Given the description of an element on the screen output the (x, y) to click on. 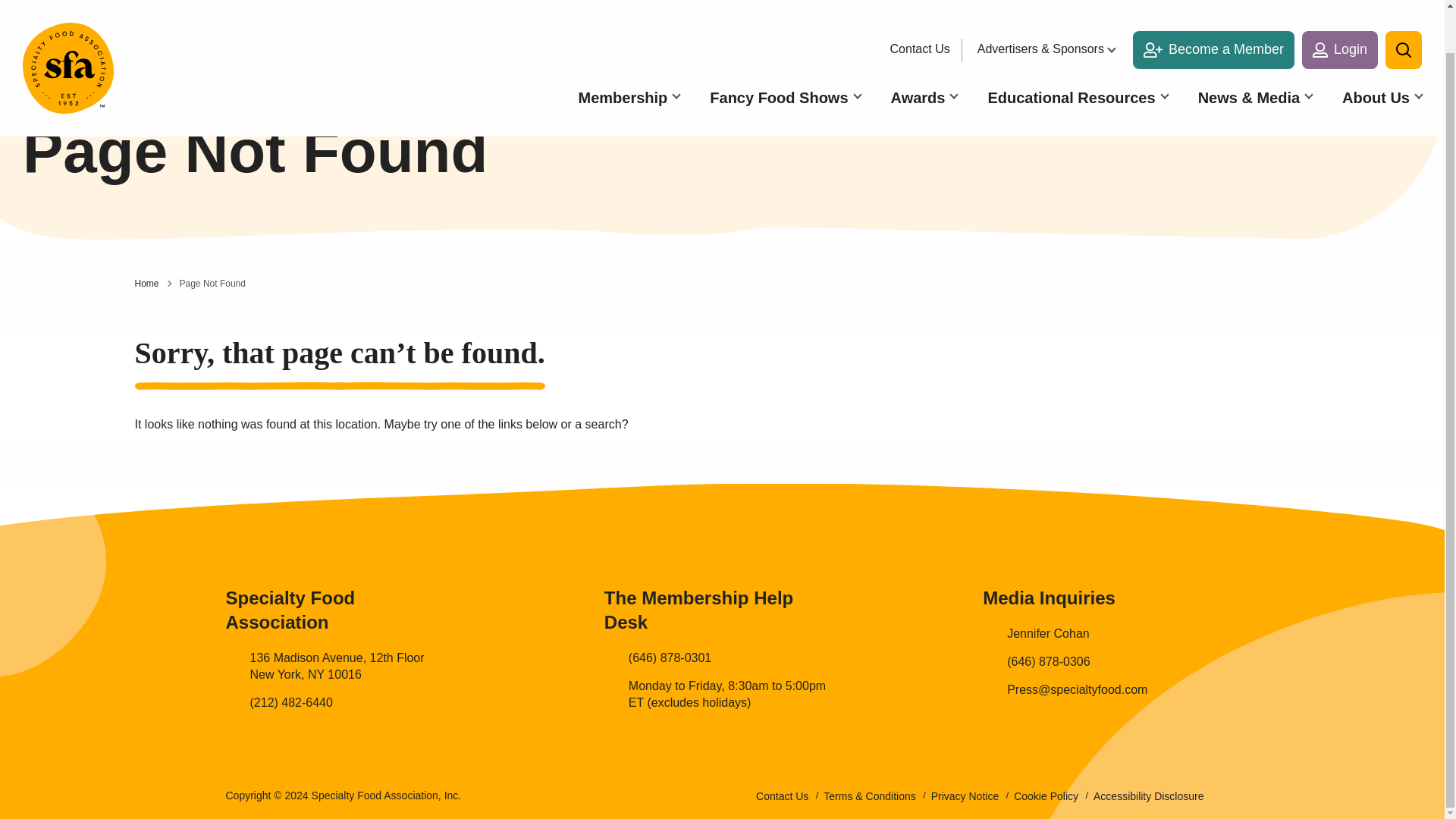
Membership (628, 52)
Login (1339, 11)
Become a Member (1213, 11)
Contact Us (924, 7)
Toggle search (1404, 11)
